Given the description of an element on the screen output the (x, y) to click on. 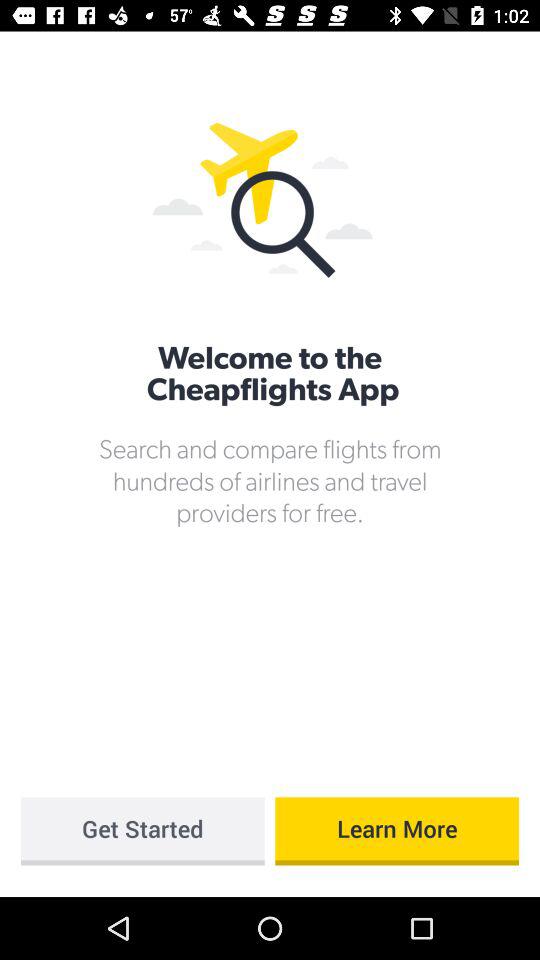
tap icon next to learn more icon (142, 831)
